Given the description of an element on the screen output the (x, y) to click on. 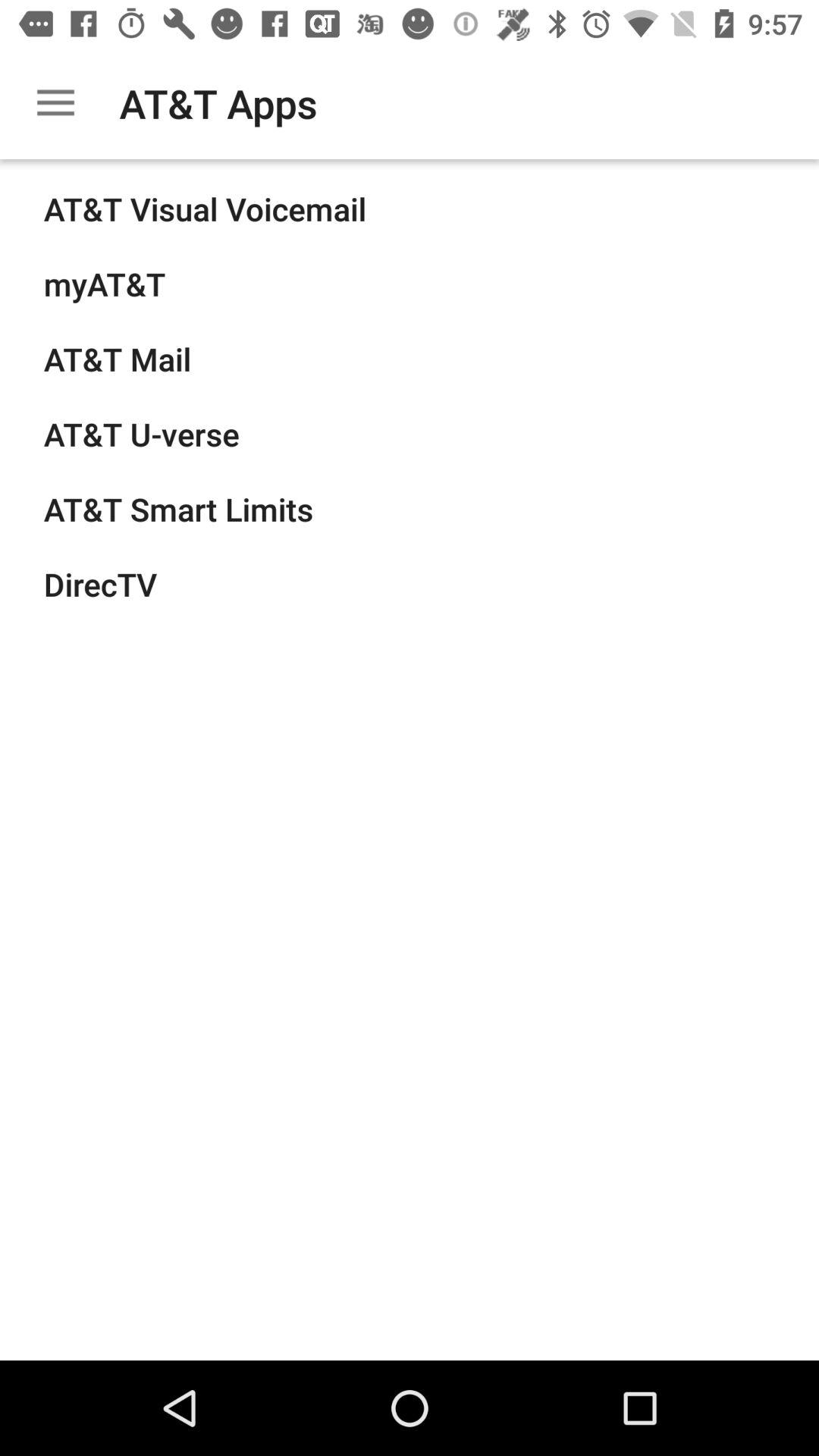
launch the directv (99, 583)
